Given the description of an element on the screen output the (x, y) to click on. 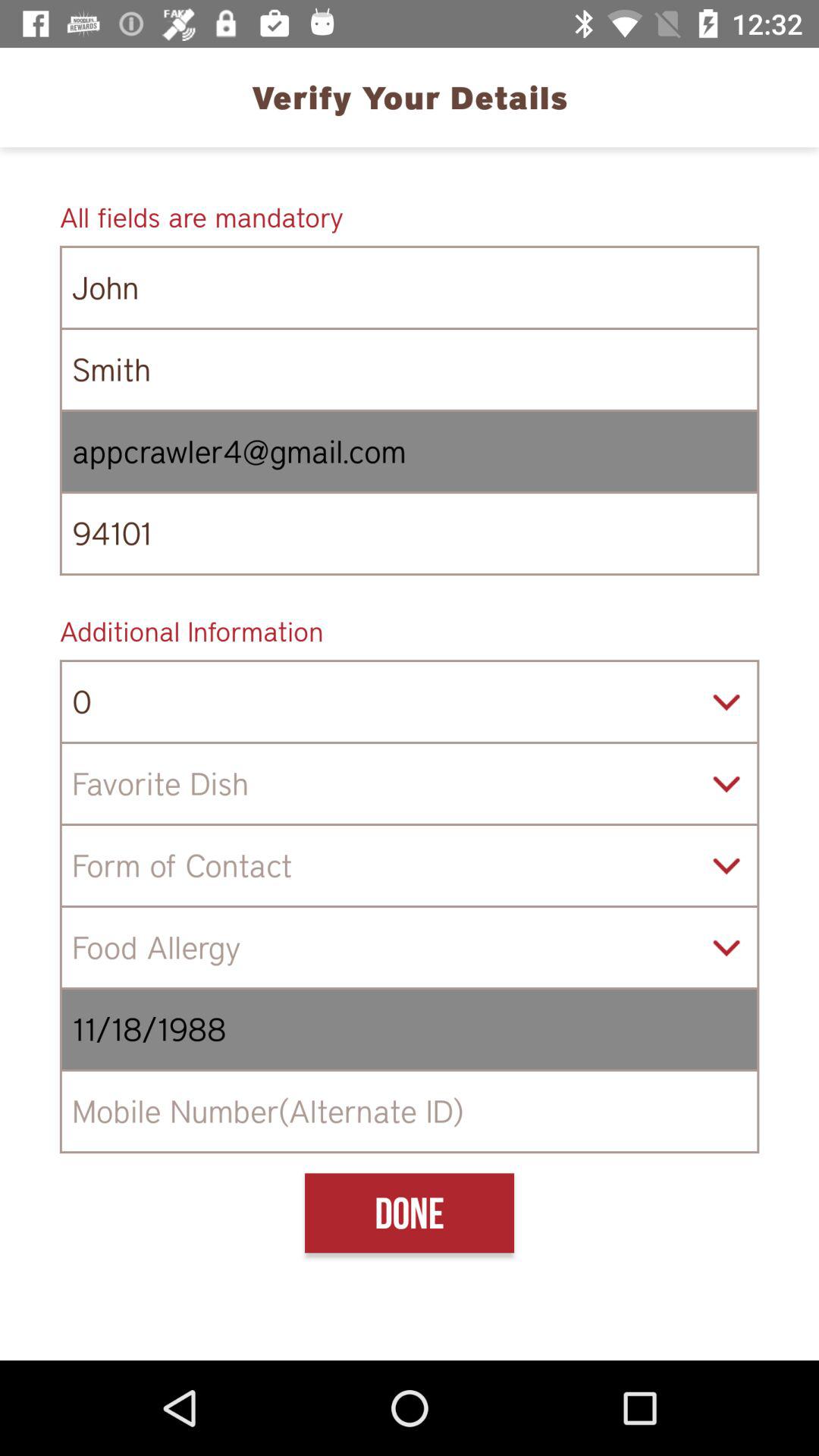
flip until the appcrawler4@gmail.com (409, 451)
